Given the description of an element on the screen output the (x, y) to click on. 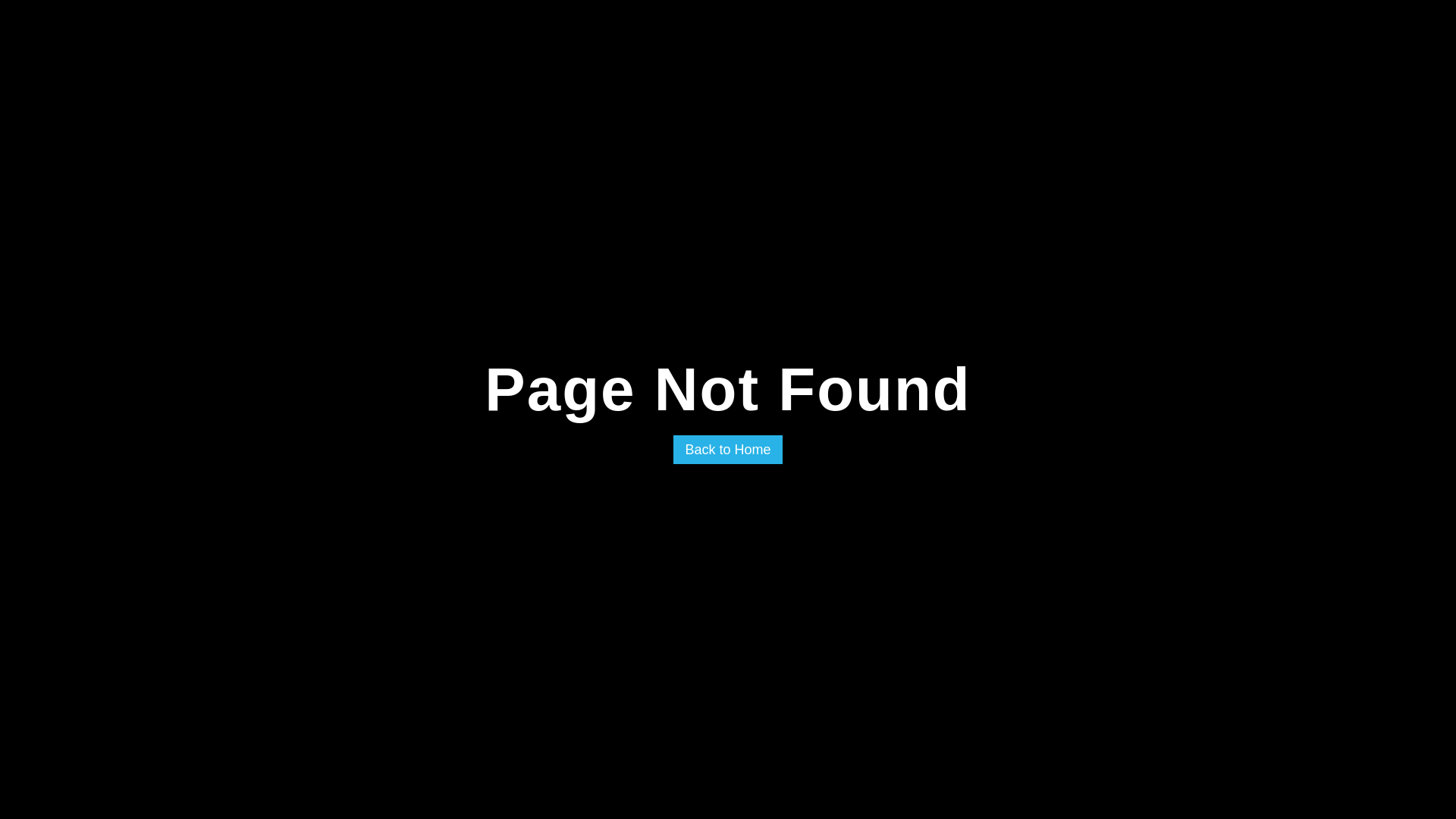
Back to Home Element type: text (727, 449)
